Given the description of an element on the screen output the (x, y) to click on. 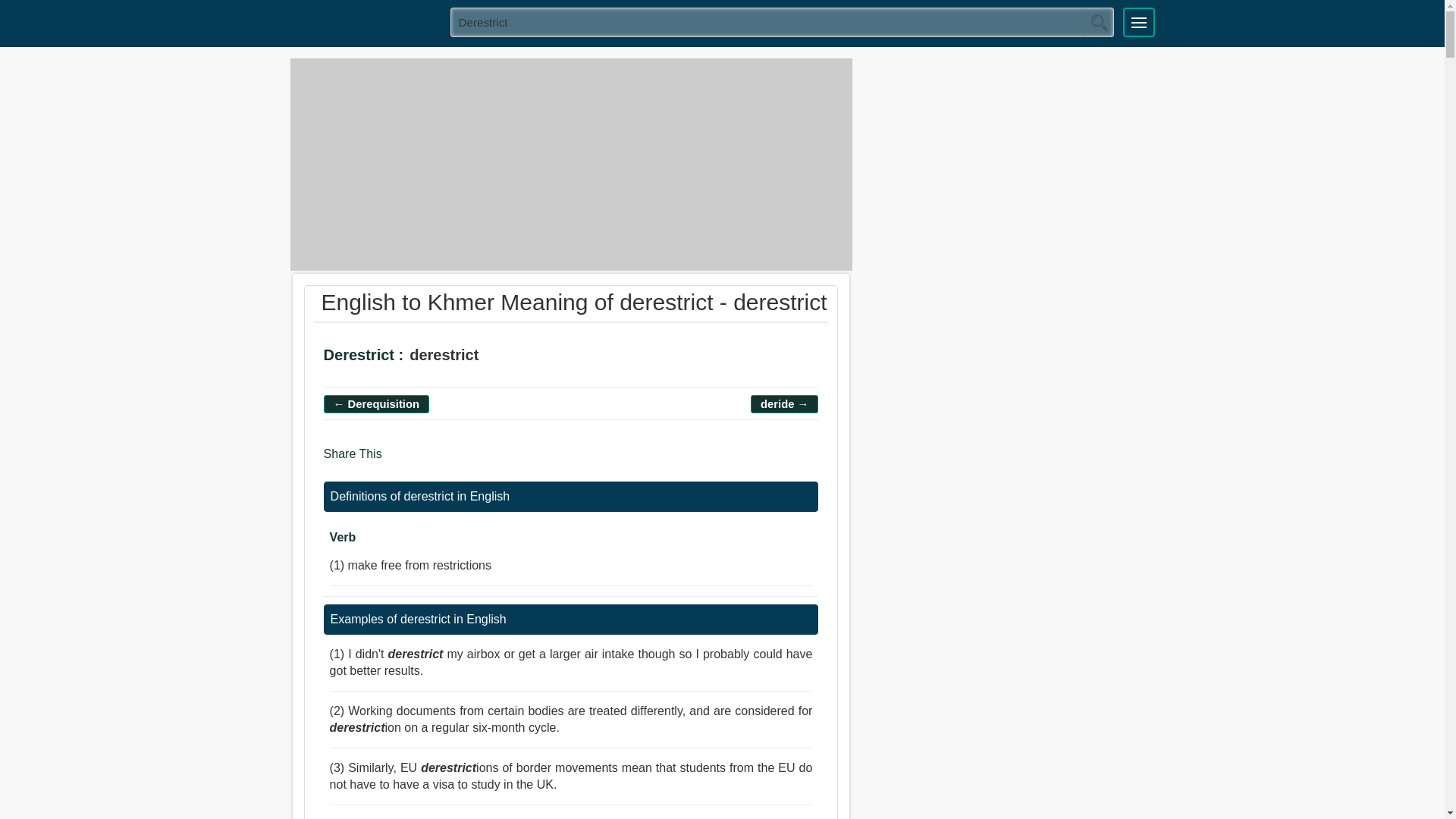
Search (1098, 22)
Linkedin (458, 461)
Advertisement (570, 164)
Add To Favorites (545, 357)
KHMER (365, 20)
derestrict (782, 21)
More Share (485, 461)
Facebook (398, 461)
Twitter (428, 461)
English to Khmer meaning of derequisition (376, 403)
Say The Word (503, 357)
English to Khmer meaning of deride (783, 403)
